Given the description of an element on the screen output the (x, y) to click on. 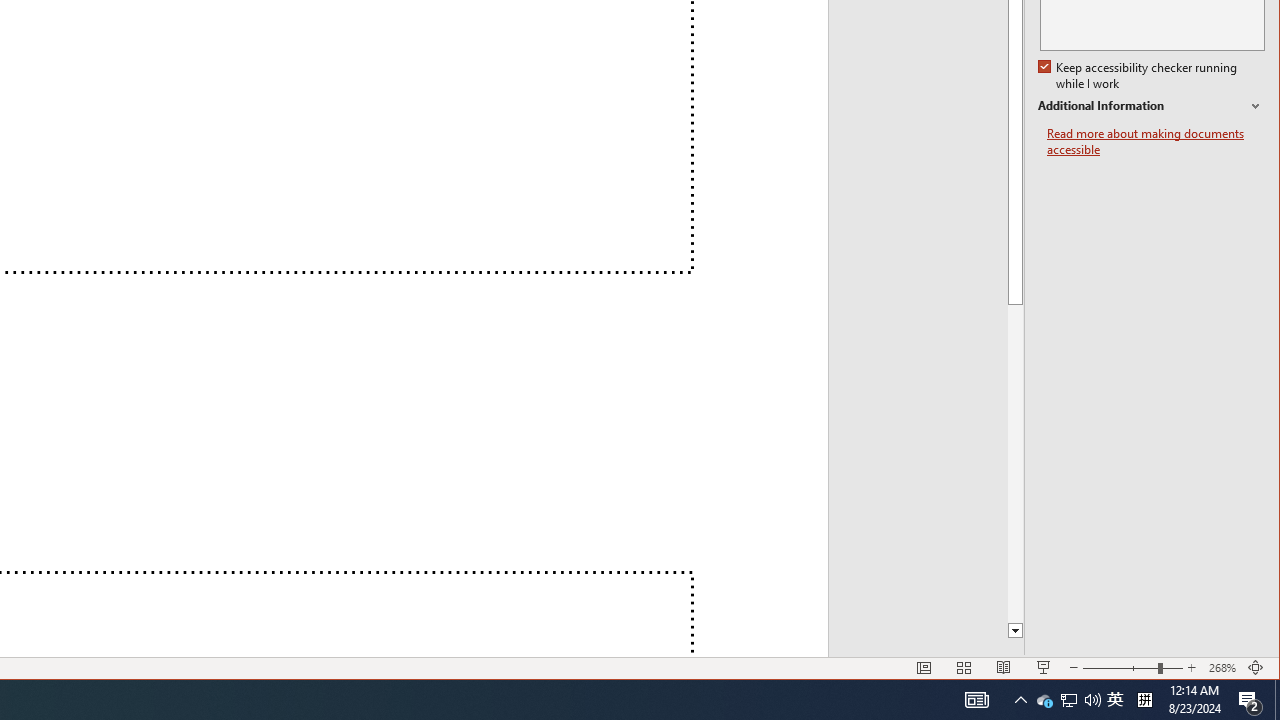
Read more about making documents accessible (1115, 699)
User Promoted Notification Area (1155, 142)
Zoom 268% (1068, 699)
Show desktop (1222, 668)
Action Center, 2 new notifications (1277, 699)
